Given the description of an element on the screen output the (x, y) to click on. 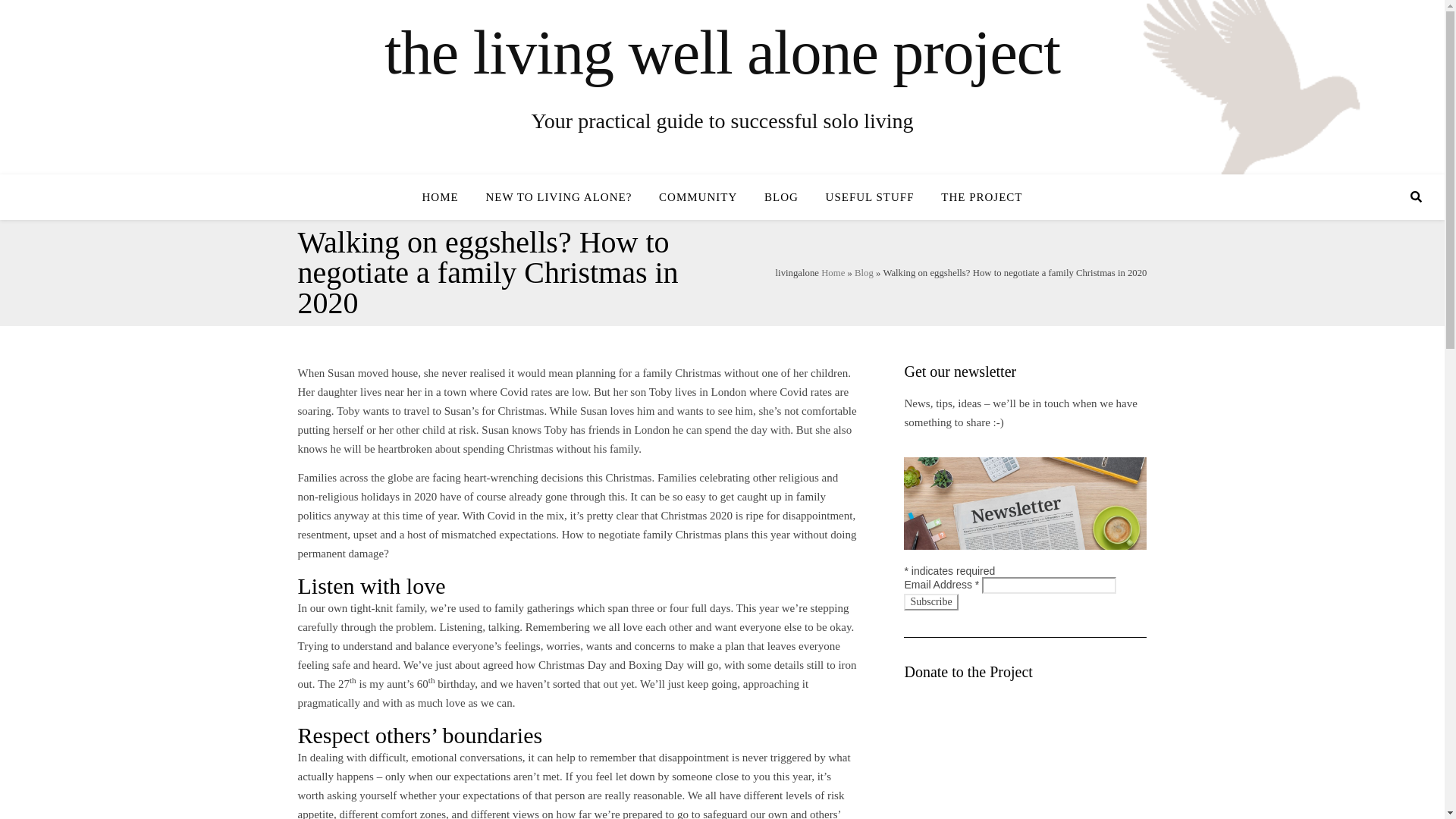
NEW TO LIVING ALONE? (558, 197)
the living well alone project (721, 52)
Home (832, 271)
BLOG (781, 197)
Subscribe (931, 601)
Blog (863, 271)
THE PROJECT (975, 197)
Subscribe (931, 601)
COMMUNITY (697, 197)
HOME (446, 197)
USEFUL STUFF (869, 197)
